Given the description of an element on the screen output the (x, y) to click on. 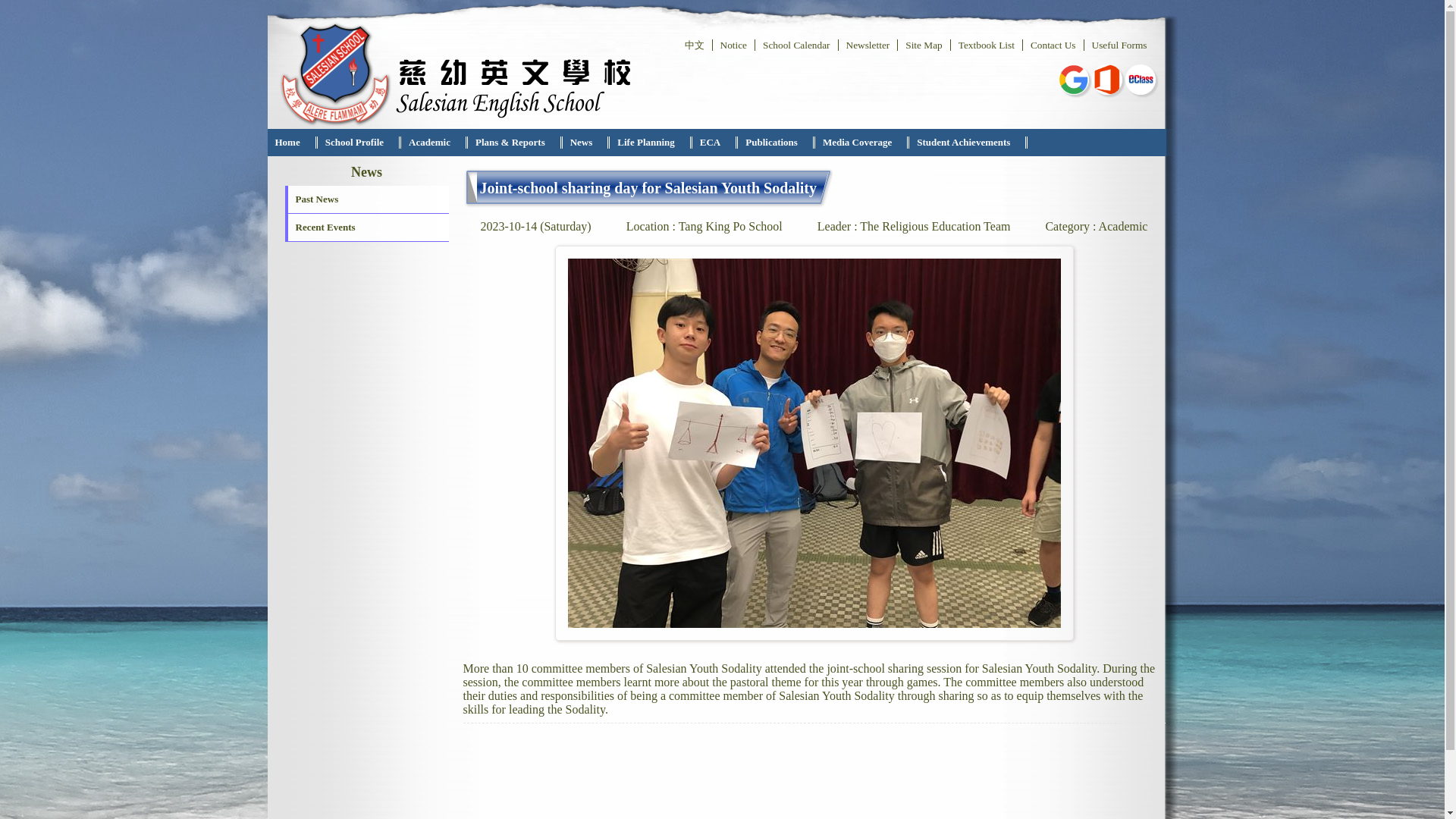
School Calendar (795, 44)
School Profile (354, 142)
Home of this website (287, 142)
Life Planning (646, 142)
Site Map (923, 44)
Home (287, 142)
Notice (732, 44)
Academic (429, 142)
Contact Us (1052, 44)
Textbook List (986, 44)
